Given the description of an element on the screen output the (x, y) to click on. 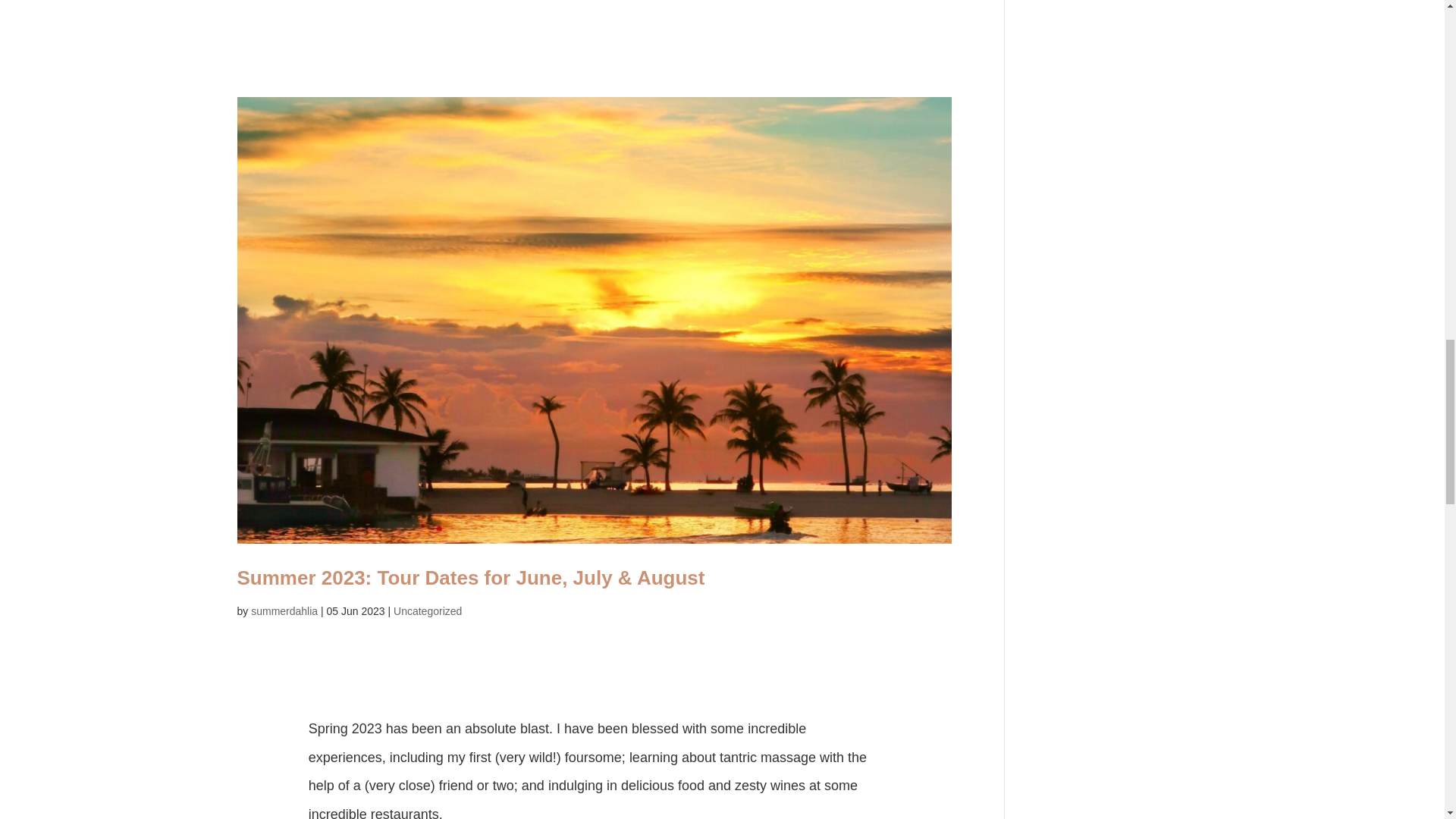
Posts by summerdahlia (283, 611)
Uncategorized (427, 611)
summerdahlia (283, 611)
